Given the description of an element on the screen output the (x, y) to click on. 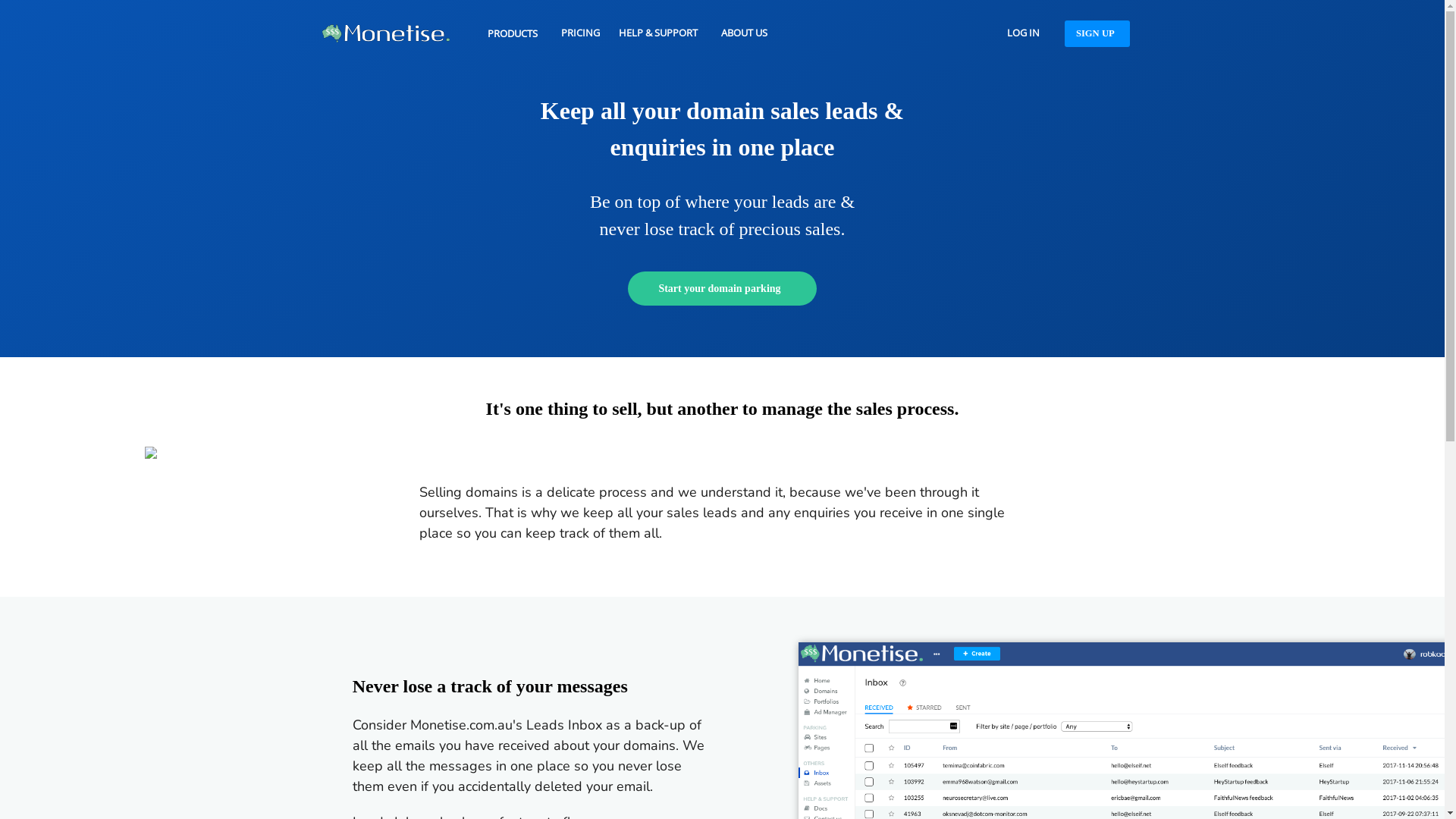
PRODUCTS   Element type: text (514, 33)
LOG IN Element type: text (1023, 33)
PRICING Element type: text (580, 33)
HELP & SUPPORT   Element type: text (660, 33)
SIGN UP   Element type: text (1096, 33)
Start your domain parking   Element type: text (721, 288)
ABOUT US Element type: text (744, 33)
